Given the description of an element on the screen output the (x, y) to click on. 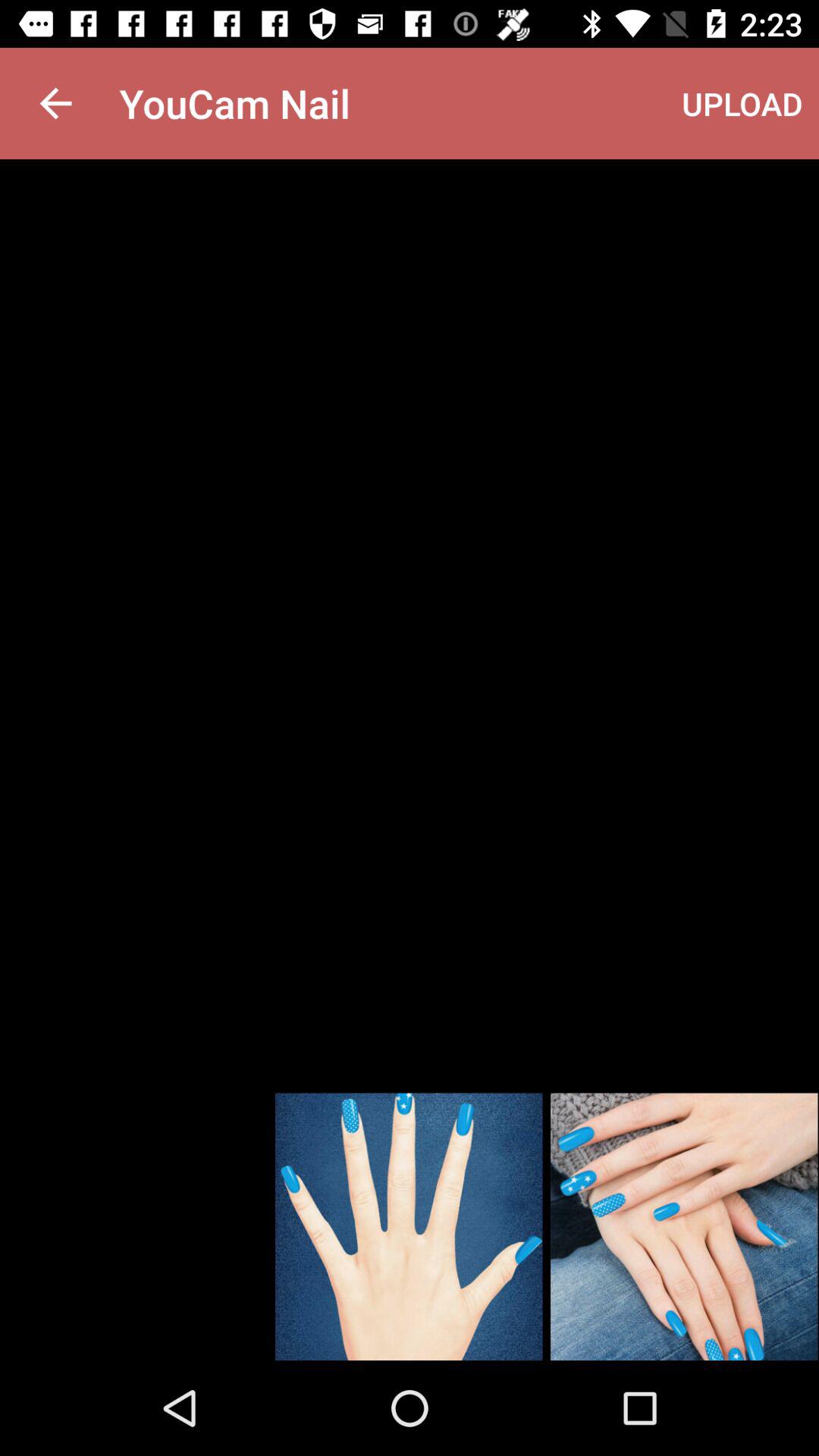
click the item to the left of the youcam nail item (55, 103)
